Given the description of an element on the screen output the (x, y) to click on. 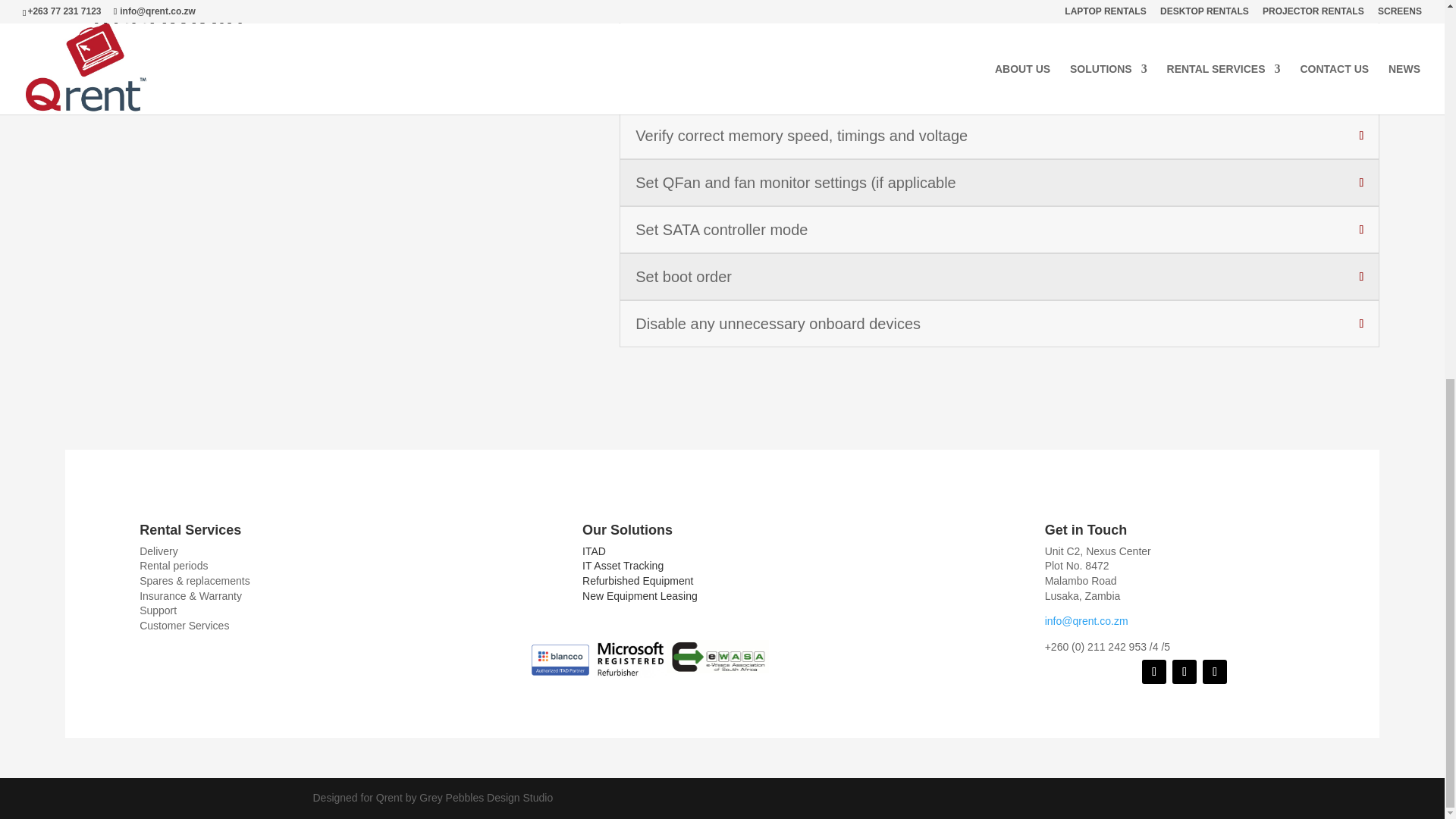
IT Asset Tracking (622, 565)
New Equipment Leasing (639, 595)
Follow on Facebook (1153, 671)
Refurbished Equipment (637, 580)
Follow on LinkedIn (1214, 671)
Follow on Instagram (1184, 671)
ITAD (593, 551)
Rental Services (190, 529)
